Given the description of an element on the screen output the (x, y) to click on. 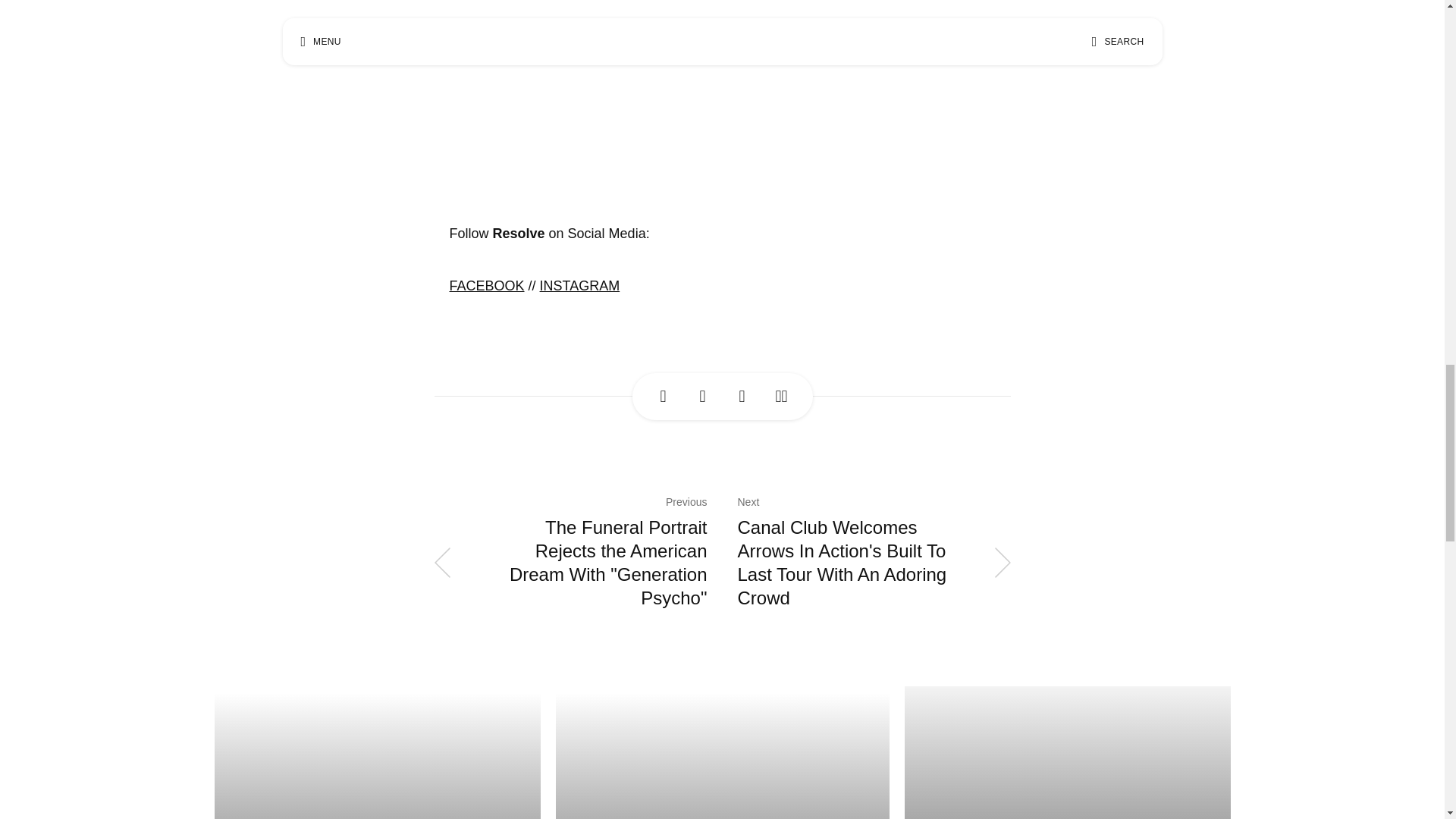
FACEBOOK (486, 293)
Spotify Embed: New Colors (721, 96)
INSTAGRAM (580, 290)
